Given the description of an element on the screen output the (x, y) to click on. 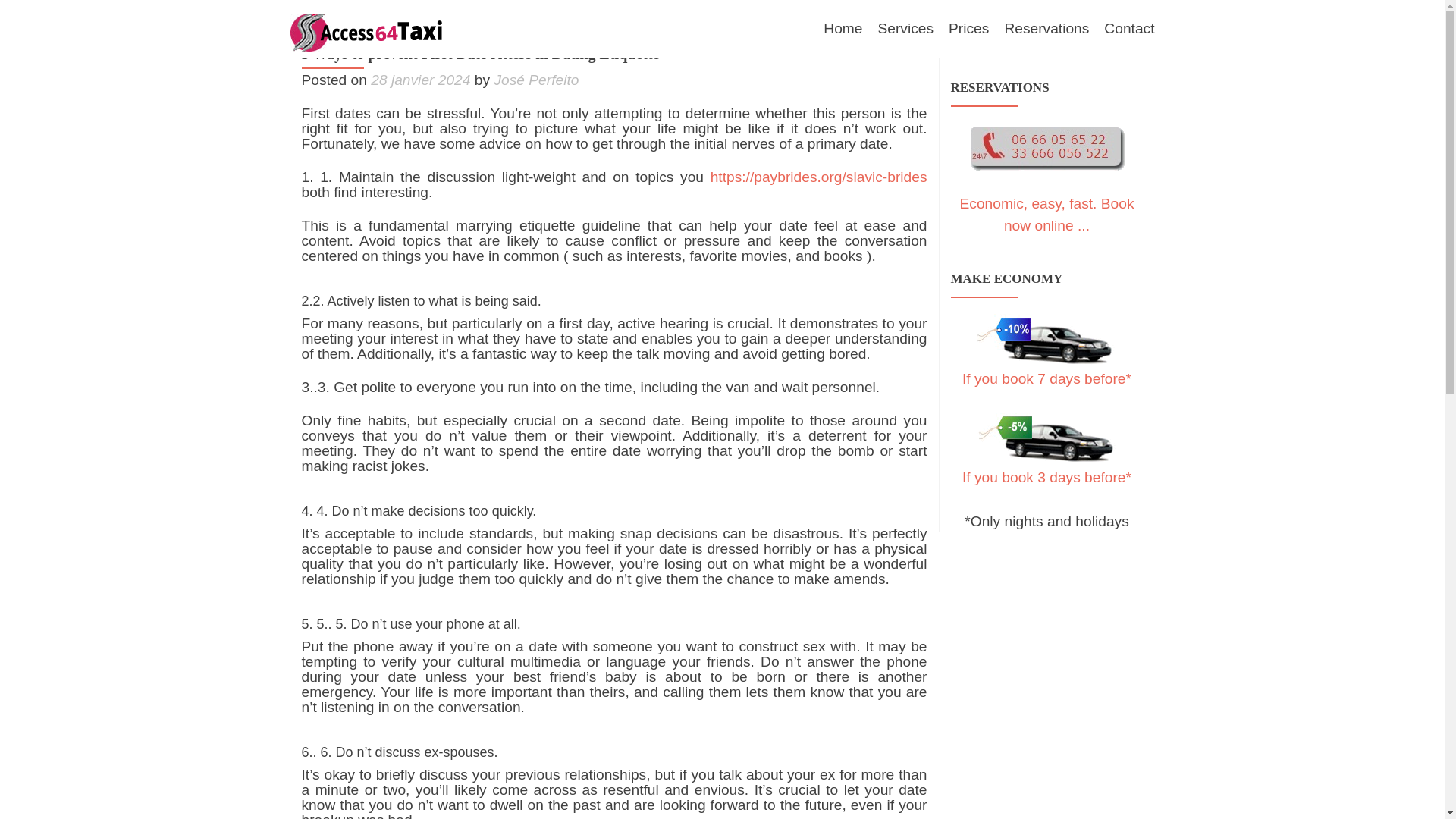
Contact (1128, 28)
Reservations (1046, 28)
Home (842, 28)
Services (905, 28)
Prices (968, 28)
28 janvier 2024 (420, 79)
Economic, easy, fast. Book now online ... (1046, 214)
